Given the description of an element on the screen output the (x, y) to click on. 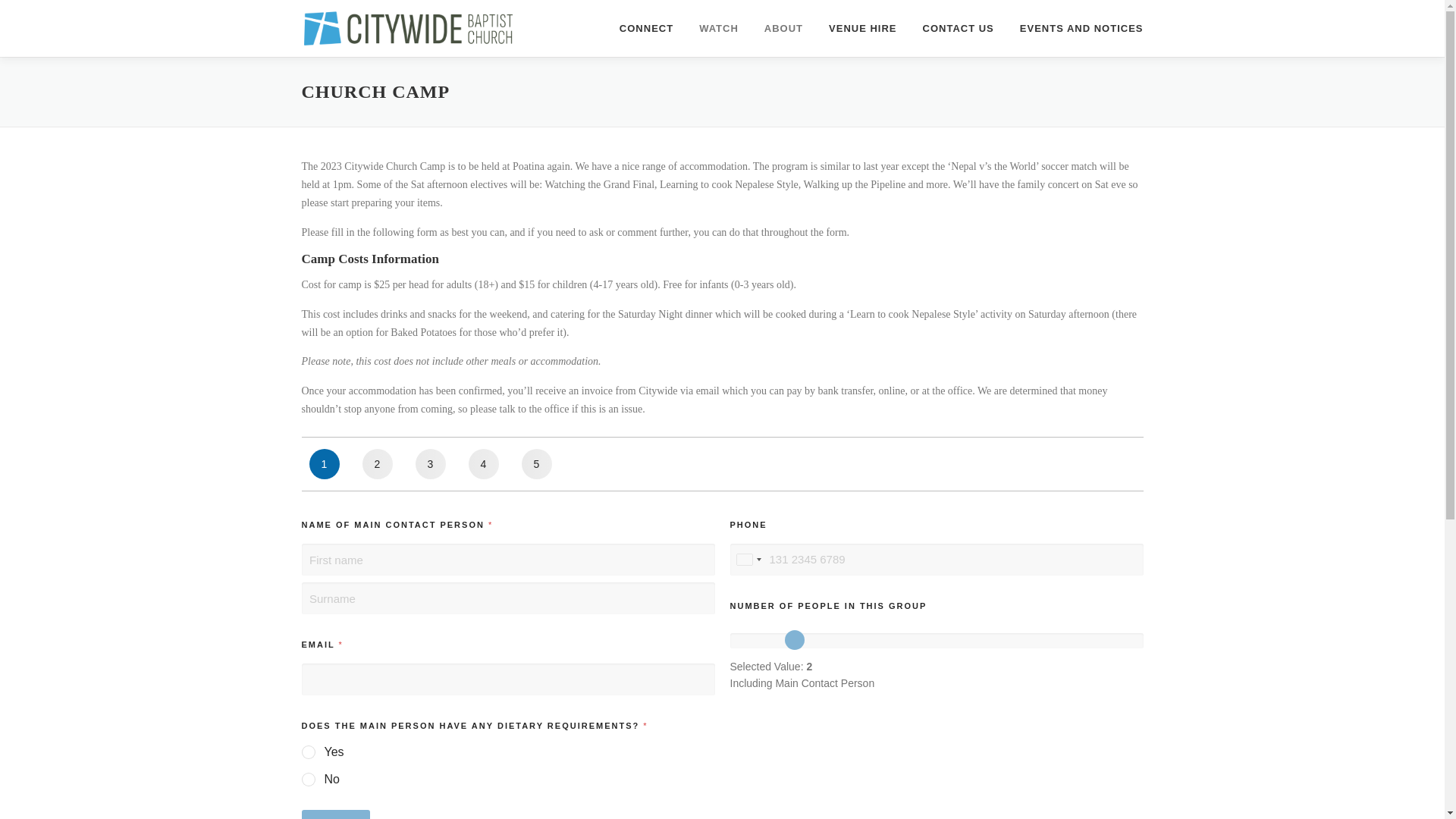
WATCH (718, 28)
ABOUT (783, 28)
CONTACT US (958, 28)
No (308, 779)
2 (935, 641)
VENUE HIRE (861, 28)
CONNECT (646, 28)
Yes (308, 752)
